Given the description of an element on the screen output the (x, y) to click on. 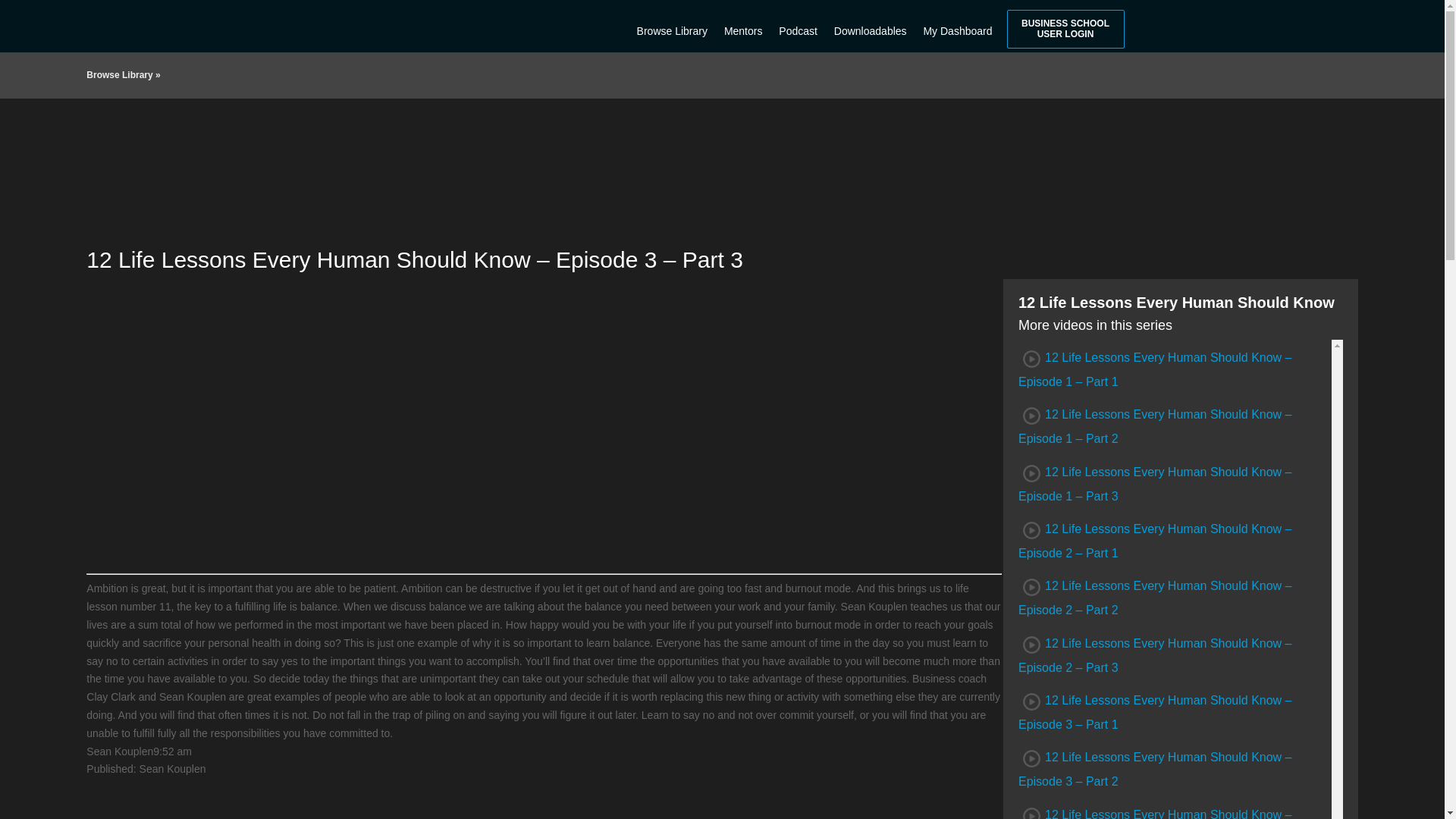
Mentors (743, 24)
Browse Library (118, 74)
BUSINESS SCHOOL USER LOGIN (1065, 28)
My Dashboard (956, 24)
Podcast (797, 24)
Browse Library (672, 24)
Downloadables (870, 24)
Submit (616, 805)
Submit (588, 720)
